Given the description of an element on the screen output the (x, y) to click on. 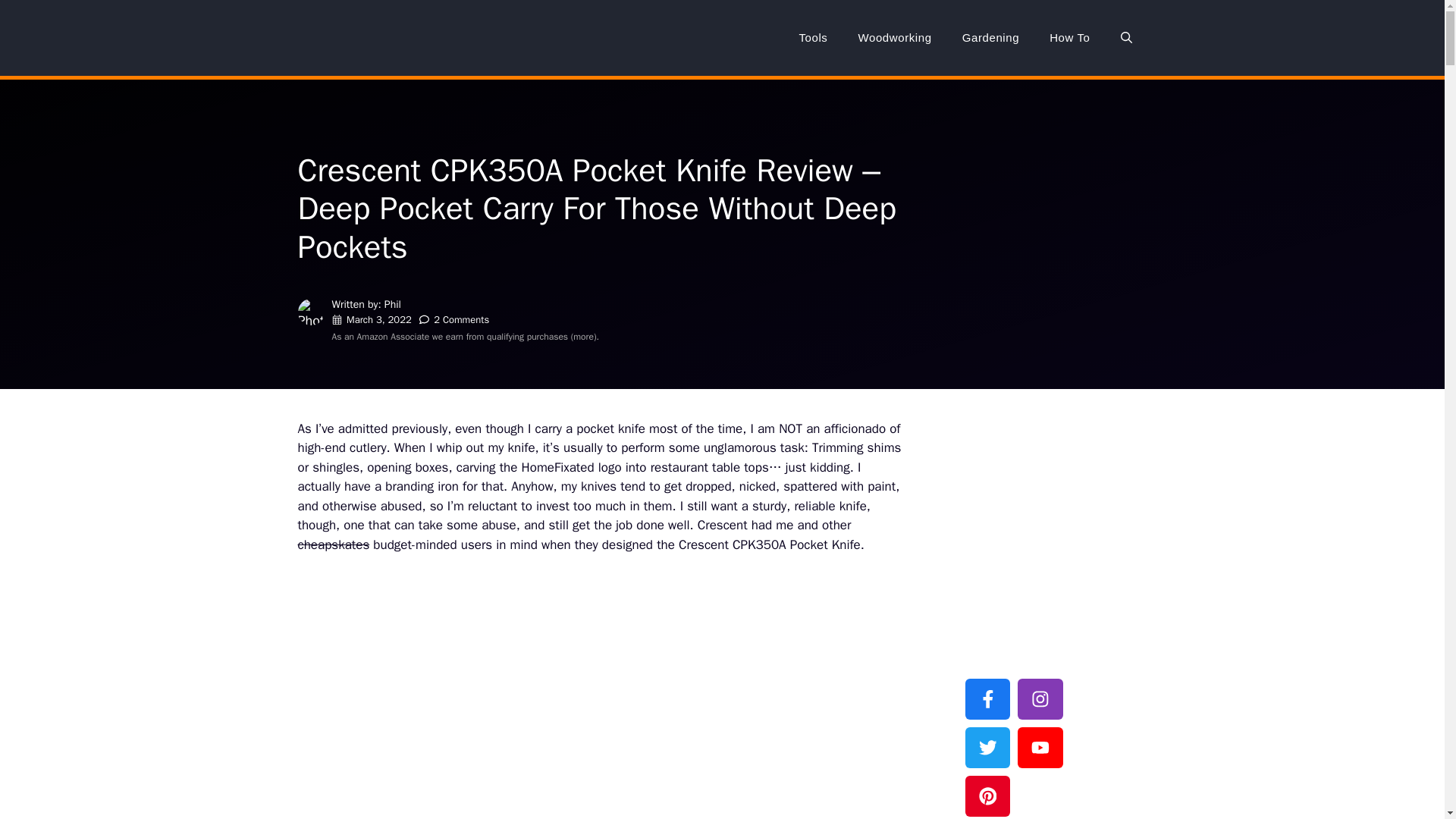
sponsored-by (1023, 442)
Phil (392, 304)
Woodworking (894, 37)
Gardening (990, 37)
How To (1069, 37)
more (583, 336)
2 Comments (461, 318)
Tools (813, 37)
